Given the description of an element on the screen output the (x, y) to click on. 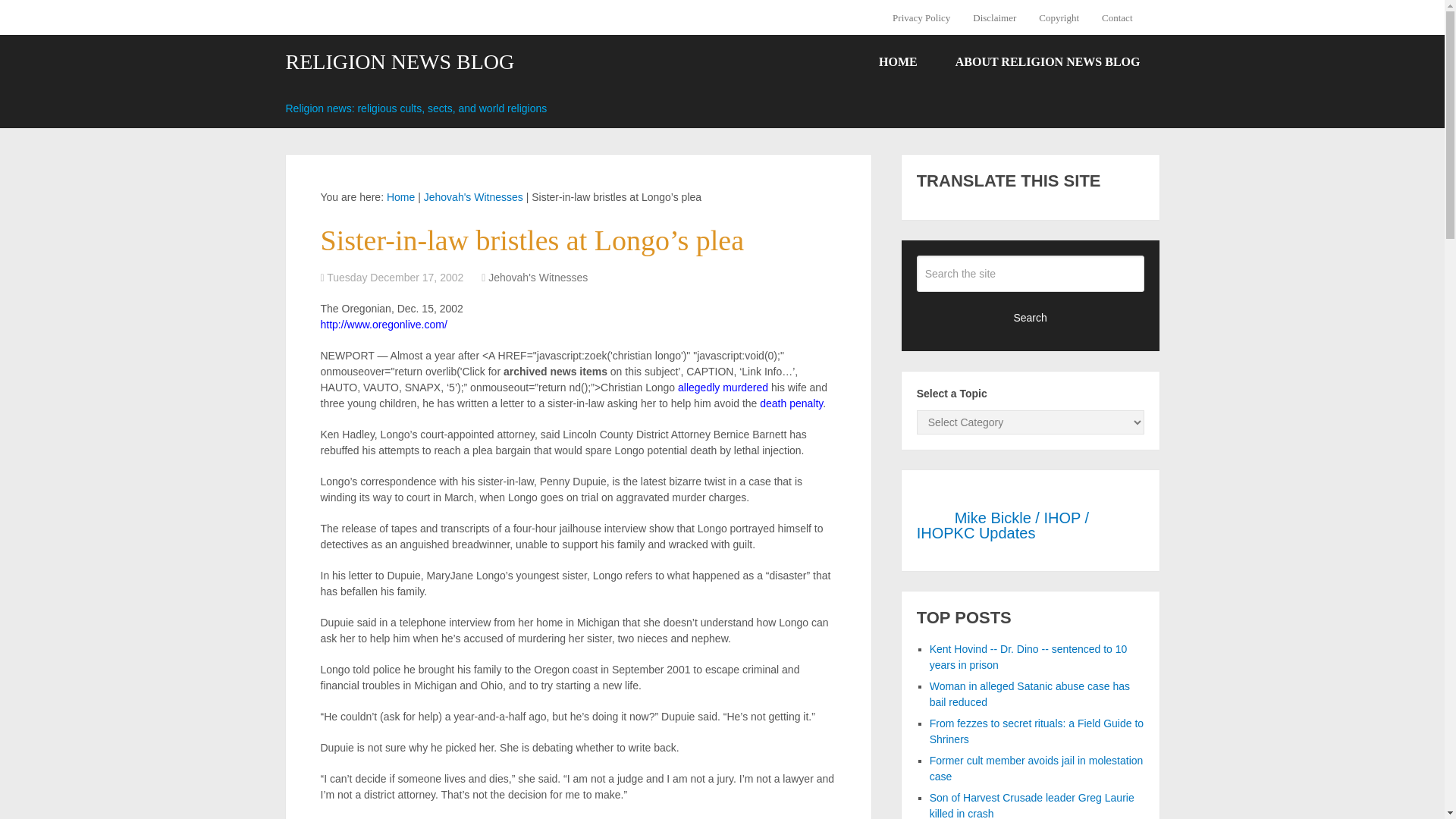
Jehovah's Witnesses (472, 196)
Privacy Policy (926, 17)
Jehovah's Witnesses (537, 277)
RELIGION NEWS BLOG (399, 61)
Search (1030, 317)
ABOUT RELIGION NEWS BLOG (1047, 62)
Disclaimer (993, 17)
Copyright (1058, 17)
HOME (898, 62)
Woman in alleged Satanic abuse case has bail reduced (1029, 694)
